Given the description of an element on the screen output the (x, y) to click on. 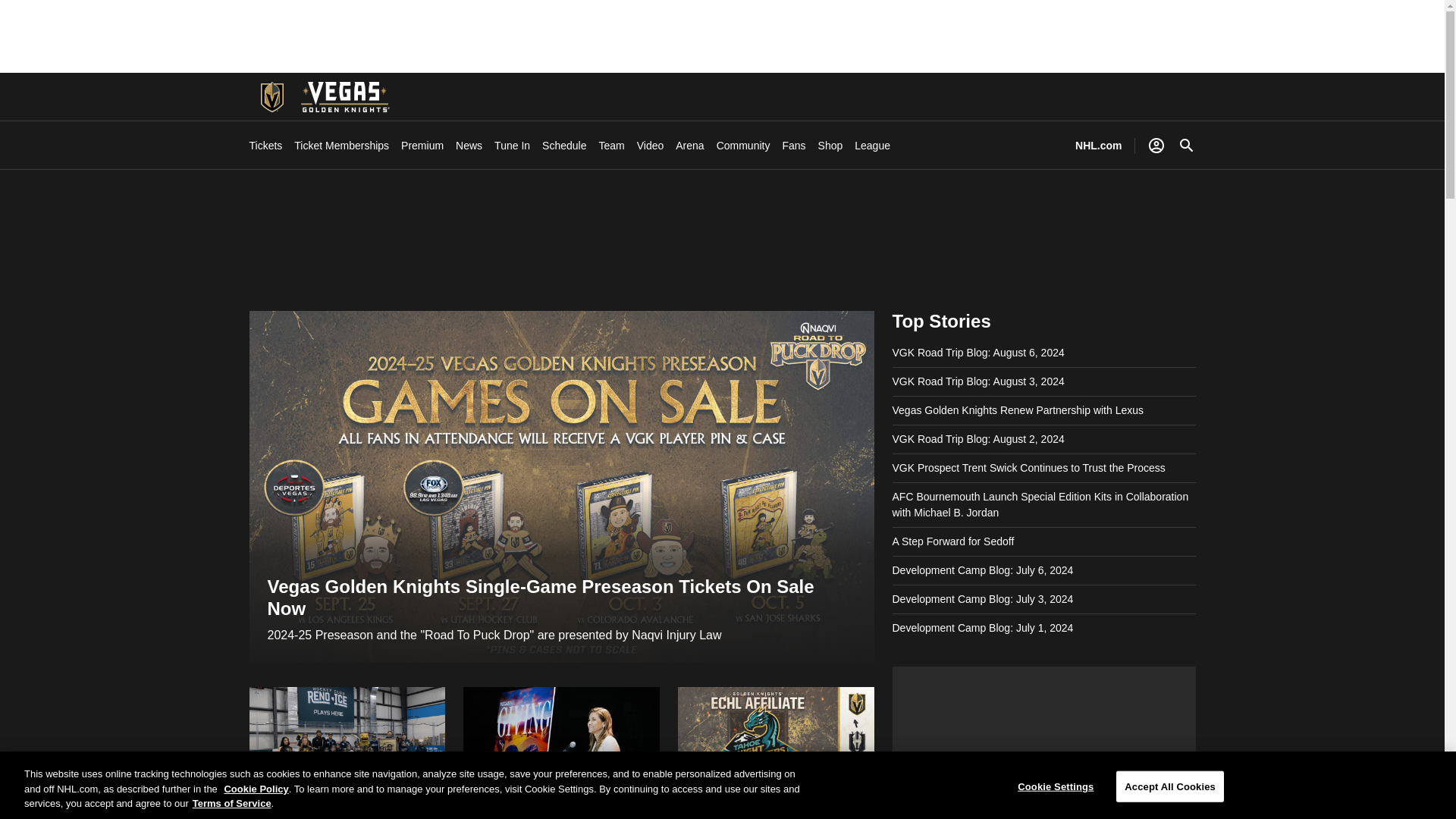
Schedule (563, 145)
Team (611, 145)
Development Camp Blog: July 3, 2024 (982, 599)
Development Camp Blog: July 6, 2024 (982, 570)
Tune In (512, 145)
News (468, 145)
Video (650, 145)
Go to Vegas Golden Knights Homepage (271, 96)
Shop (830, 145)
